Given the description of an element on the screen output the (x, y) to click on. 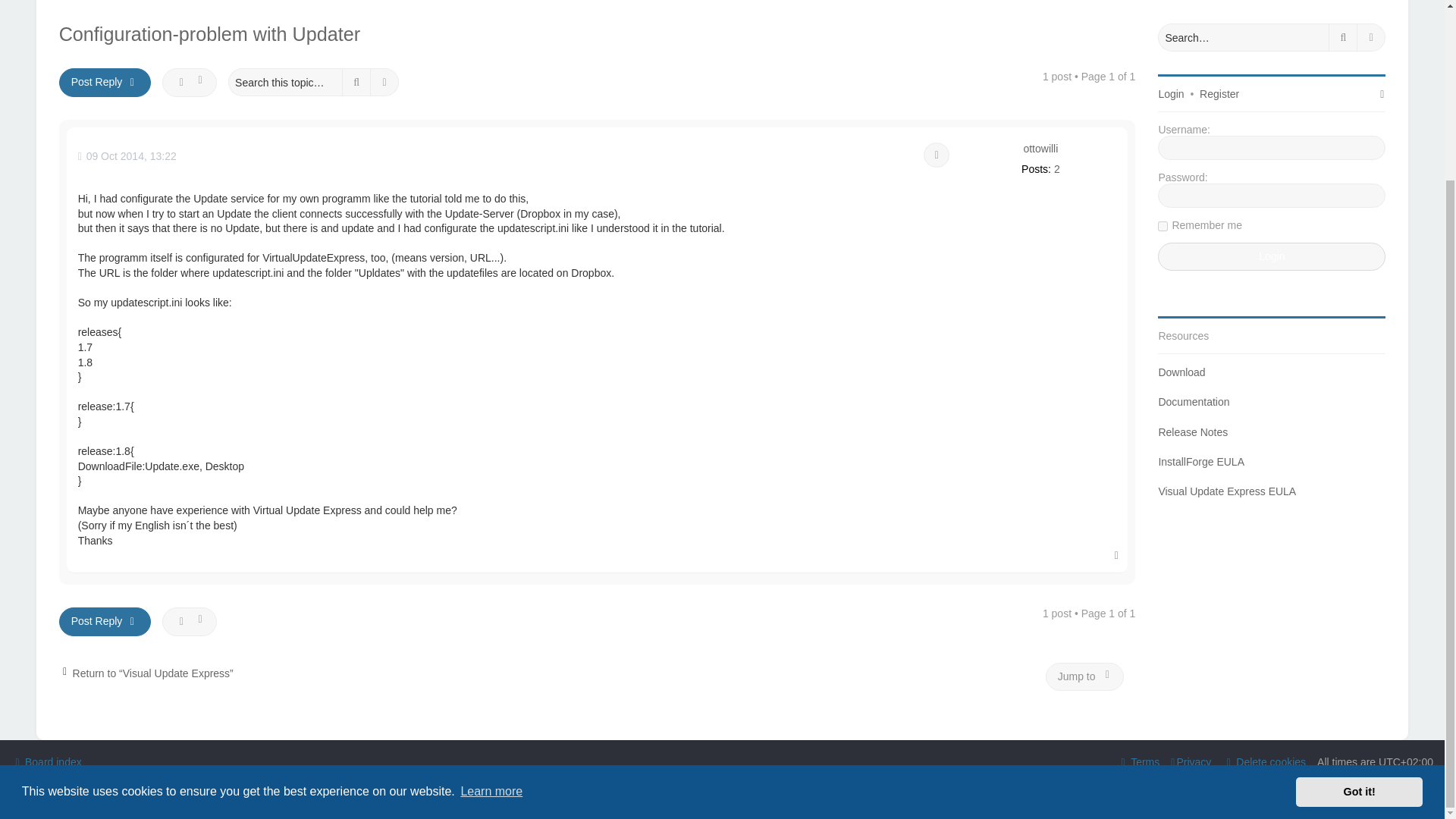
InstallForge (190, 0)
Advanced search (384, 81)
Post (127, 155)
Quote (936, 155)
Search (356, 81)
Top (1116, 554)
Post Reply (105, 82)
Advanced search (1371, 37)
09 Oct 2014, 13:22 (127, 155)
Post a reply (105, 621)
Search (356, 81)
on (1162, 225)
ottowilli (1040, 148)
